Given the description of an element on the screen output the (x, y) to click on. 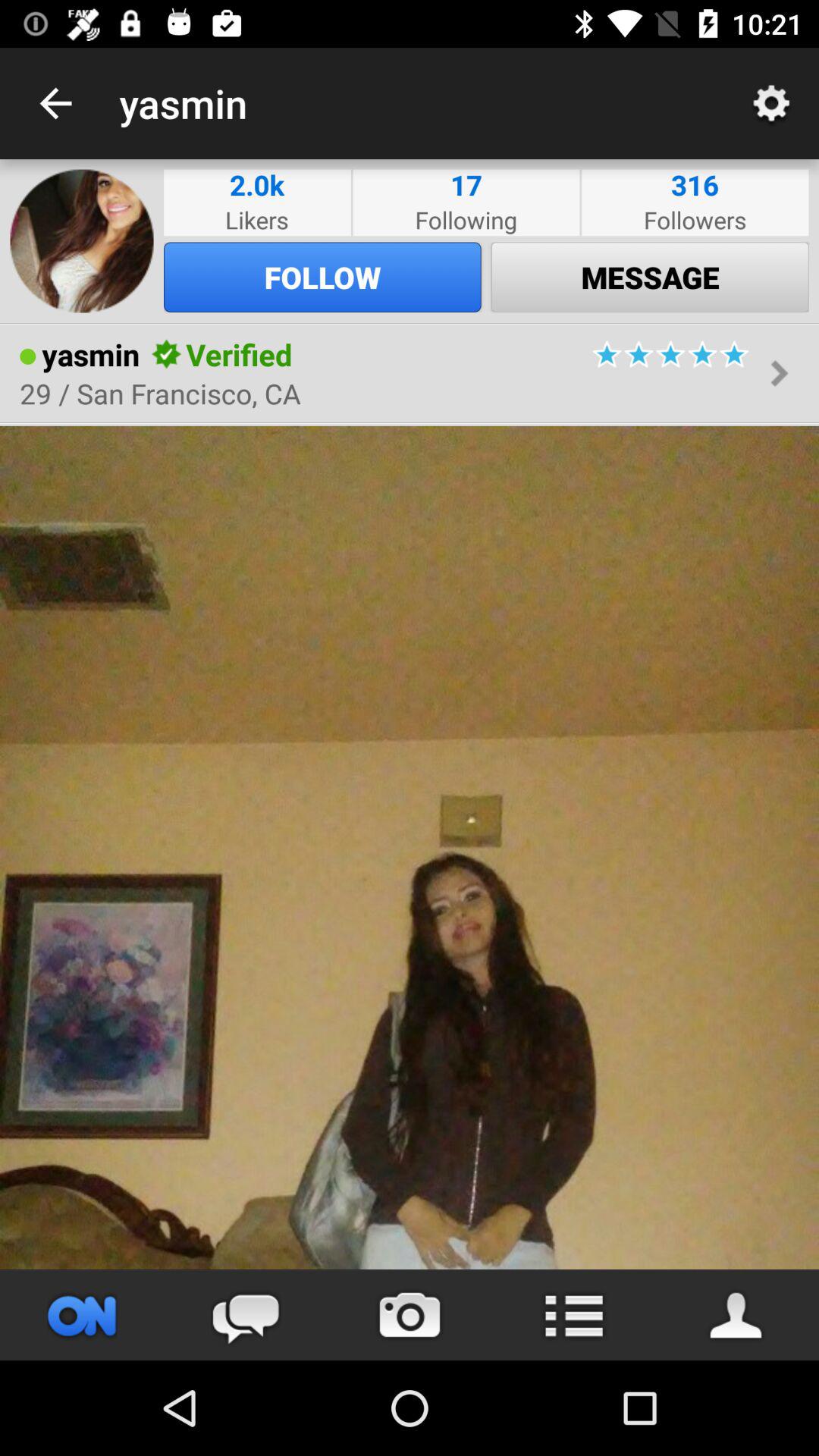
choose the following item (466, 219)
